Given the description of an element on the screen output the (x, y) to click on. 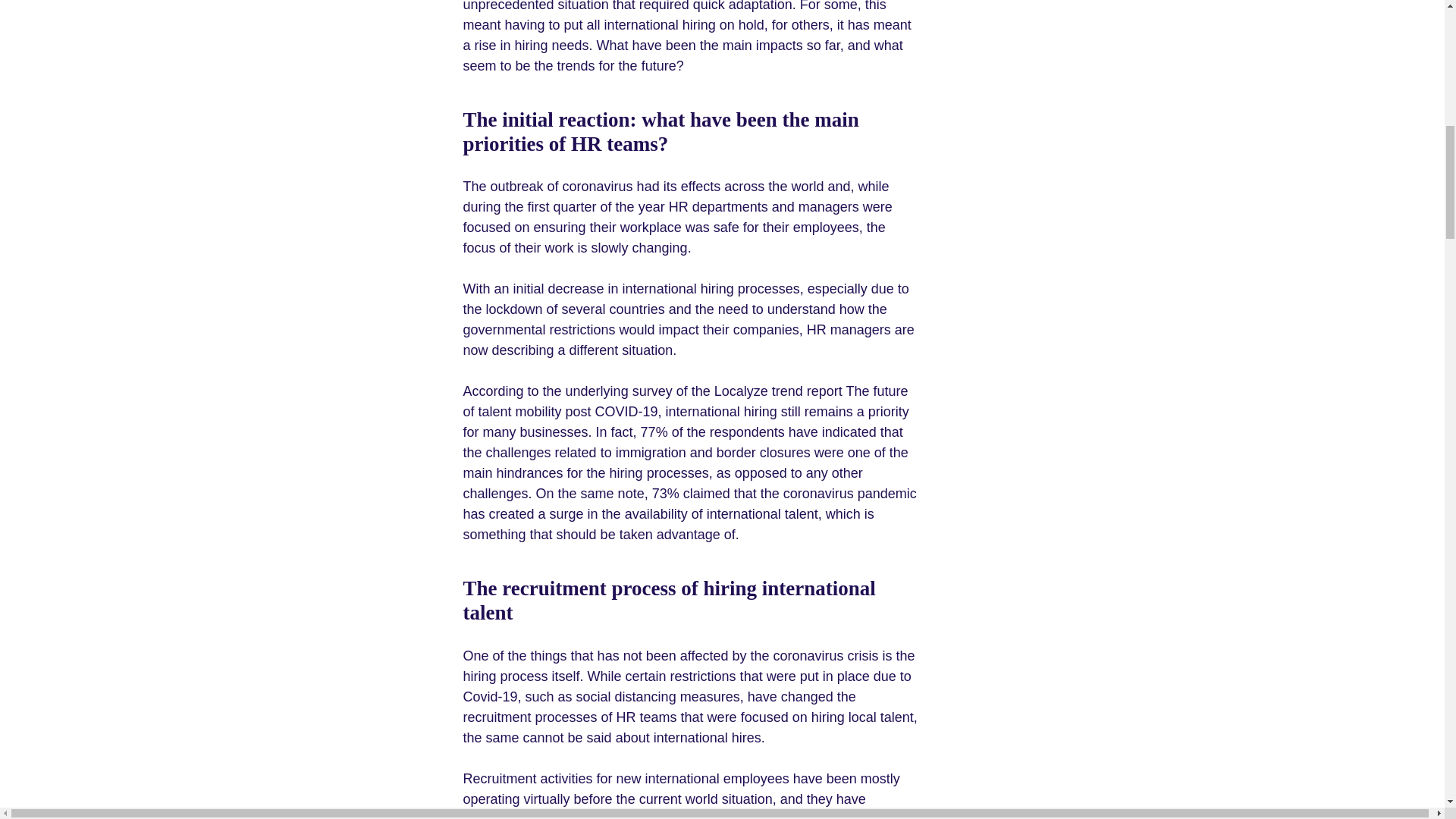
According to Randstad (655, 815)
